Given the description of an element on the screen output the (x, y) to click on. 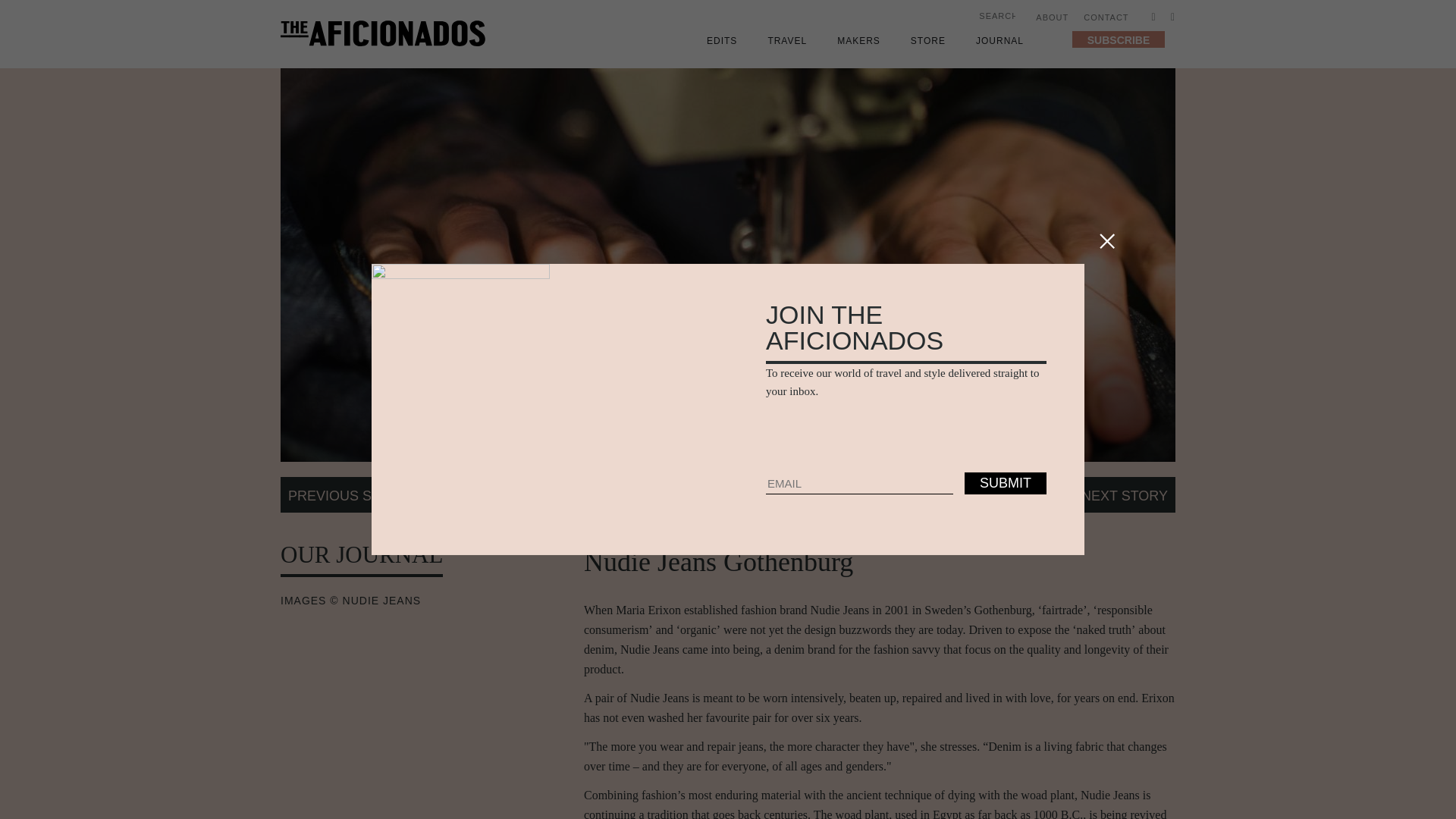
TRAVEL (786, 40)
MAKERS (858, 40)
ABOUT (1051, 17)
STORE (927, 40)
SUBMIT (1004, 483)
EDITS (721, 40)
Submit (1011, 16)
CONTACT (1105, 17)
SUBSCRIBE (1118, 37)
JOURNAL (999, 40)
